Given the description of an element on the screen output the (x, y) to click on. 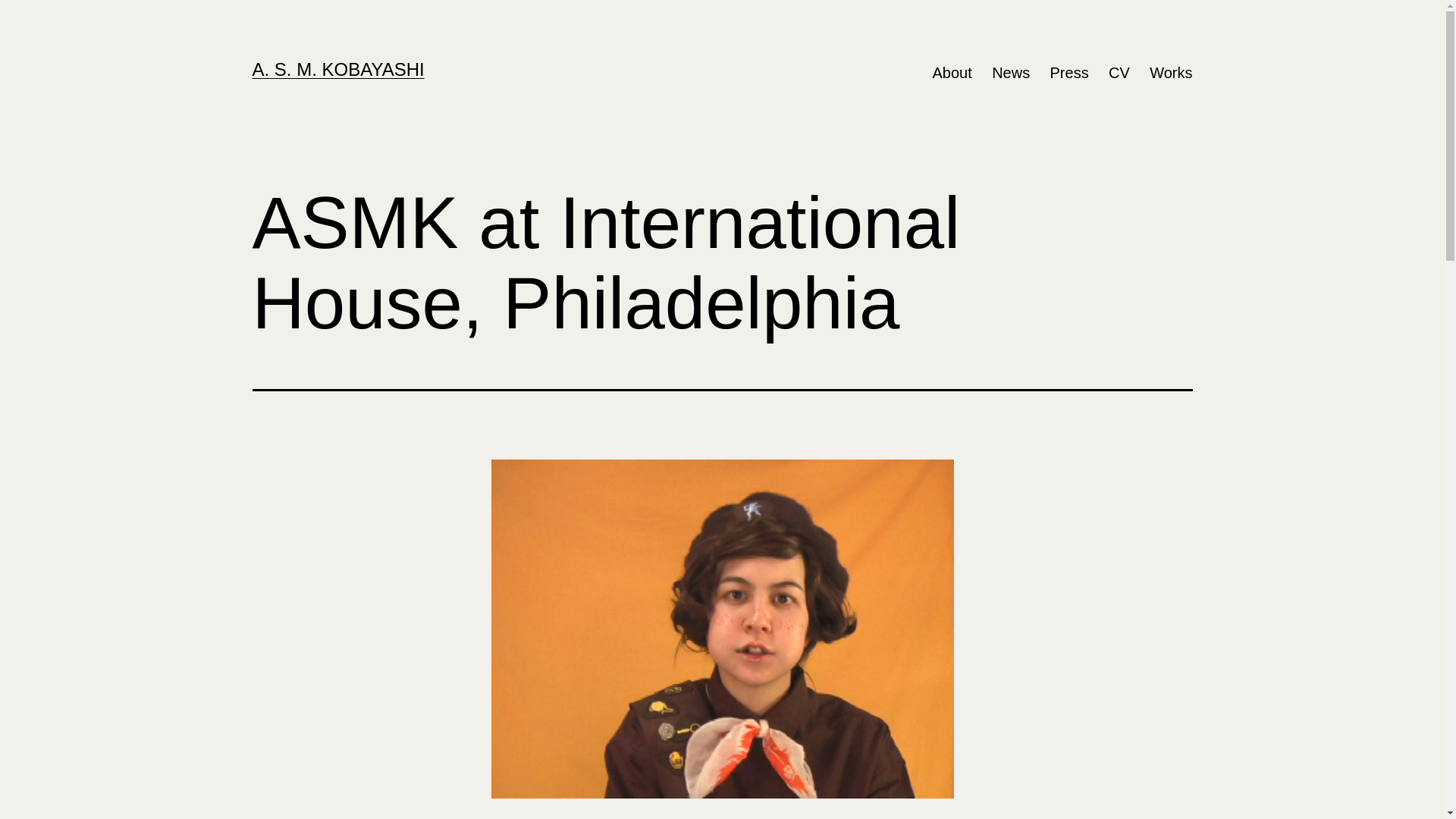
A. S. M. KOBAYASHI Element type: text (337, 69)
News Element type: text (1010, 72)
About Element type: text (952, 72)
ASM-KOBAYASHI-DO-GOOD-GEORGIA Element type: hover (722, 628)
CV Element type: text (1118, 72)
Works Element type: text (1170, 72)
Press Element type: text (1068, 72)
